Given the description of an element on the screen output the (x, y) to click on. 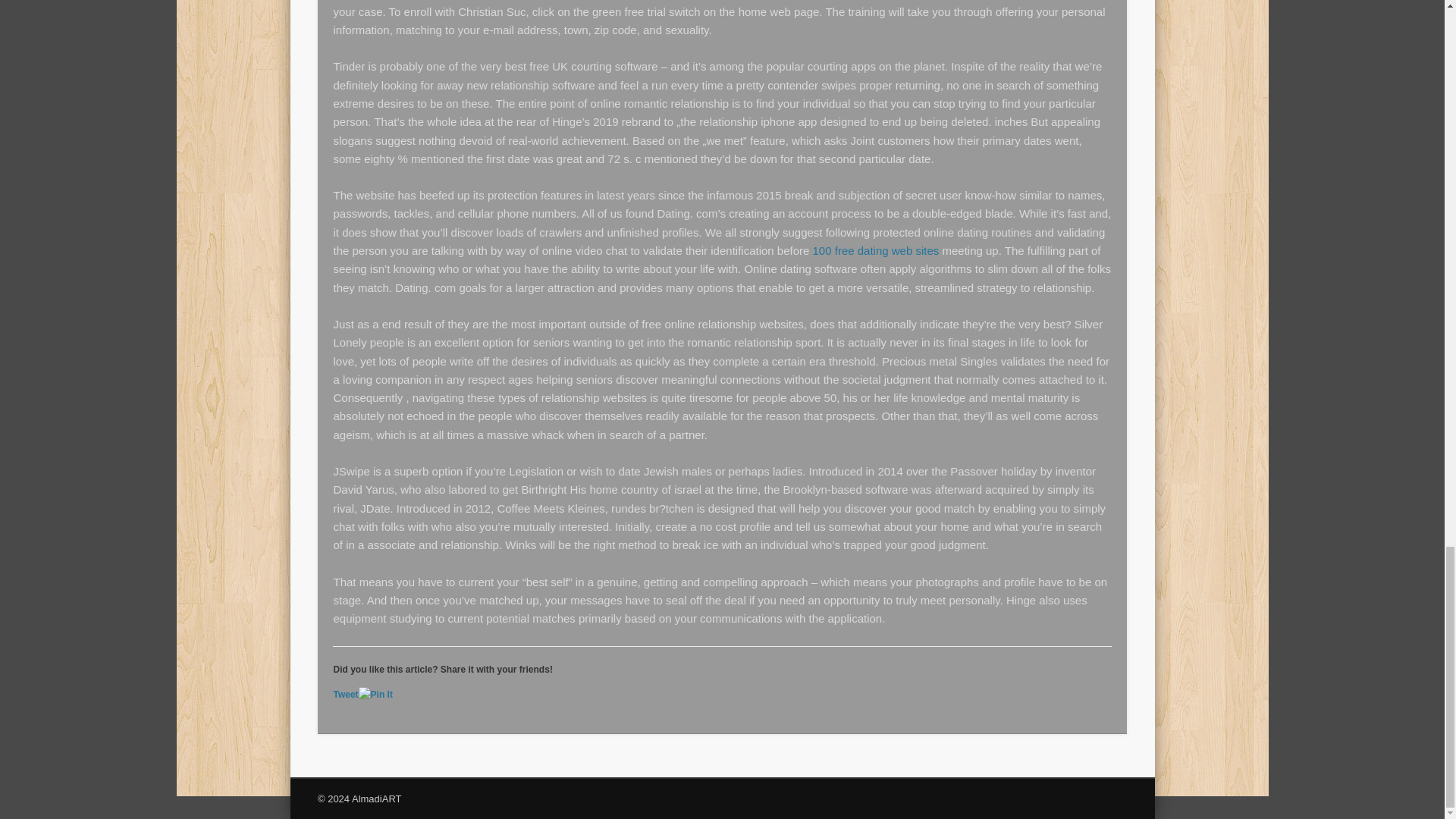
100 free dating web sites (875, 250)
Pin It (375, 694)
Tweet (345, 694)
